Given the description of an element on the screen output the (x, y) to click on. 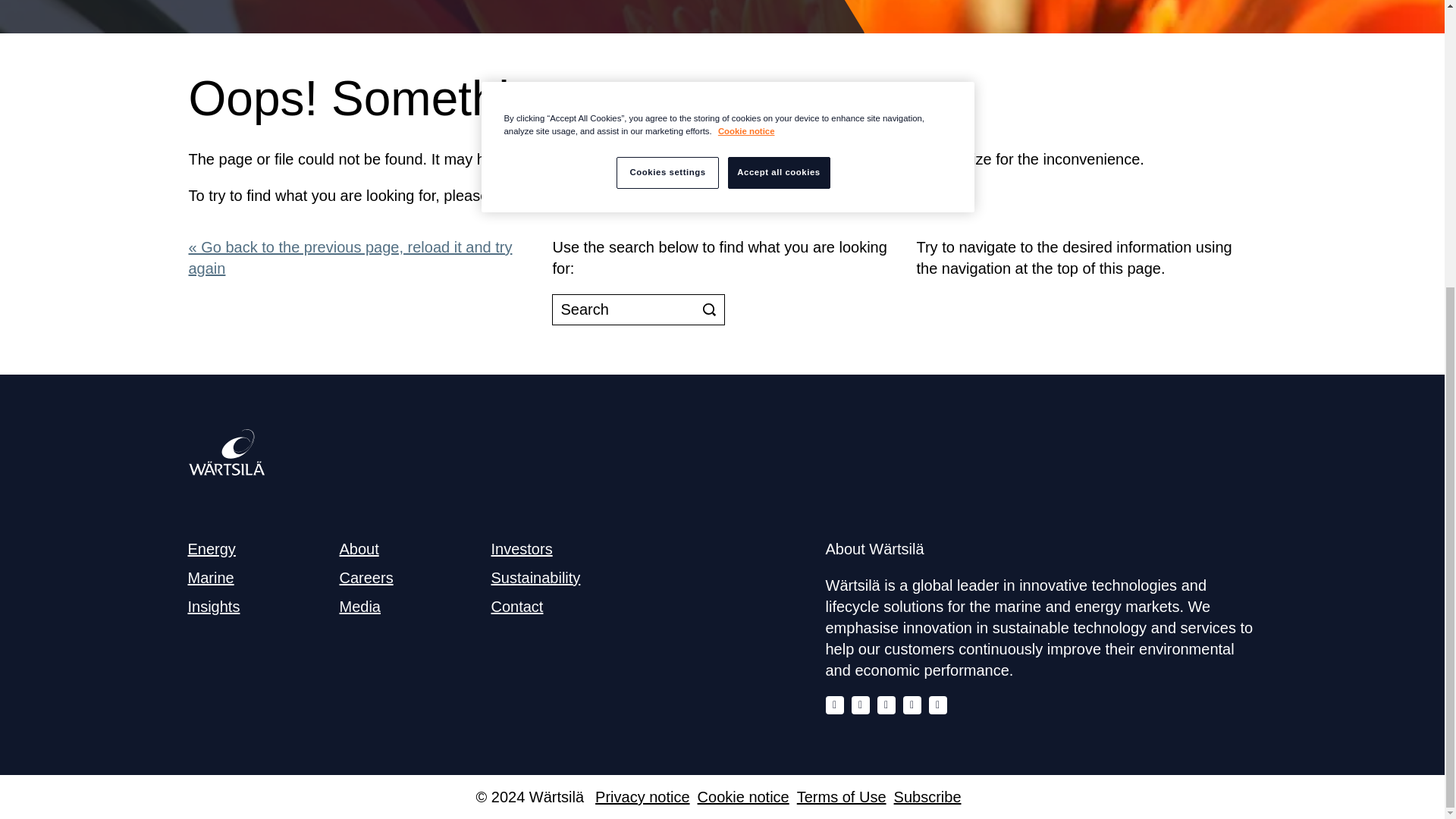
Terms of Use (841, 796)
Insights (213, 606)
Careers (366, 577)
Energy (211, 548)
Search input (638, 309)
Cookie notice (743, 796)
Sustainability (536, 577)
Privacy notice (642, 796)
Media (359, 606)
About (358, 548)
Subscribe (926, 796)
Investors (522, 548)
Marine (210, 577)
Contact (517, 606)
report the issue here (734, 195)
